Given the description of an element on the screen output the (x, y) to click on. 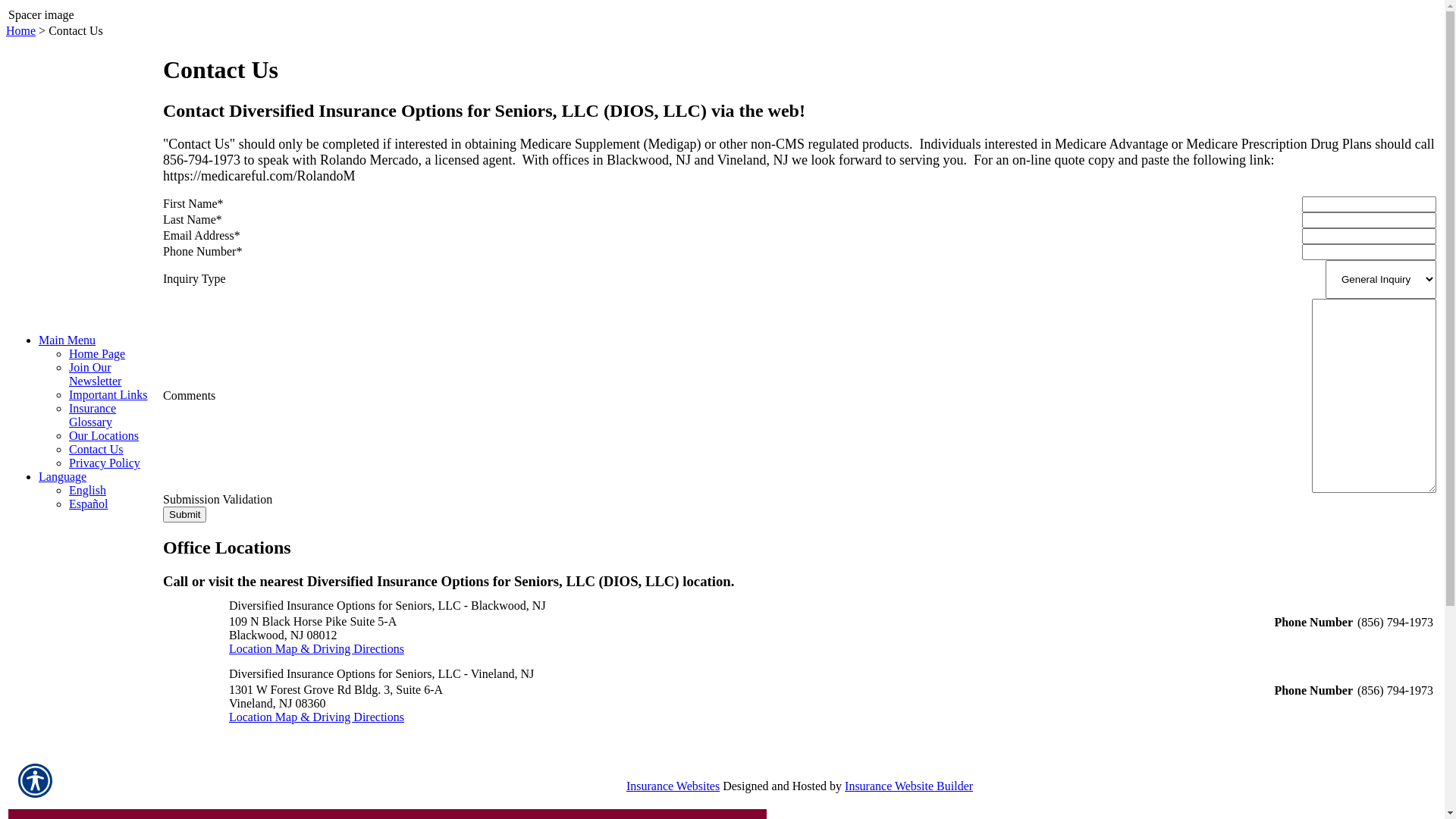
Insurance Glossary Element type: text (92, 414)
Important Links Element type: text (108, 394)
Contact Us Element type: text (96, 448)
Home Element type: text (20, 30)
Insurance Website Builder Element type: text (908, 785)
Insurance Websites Element type: text (672, 785)
English Element type: text (87, 489)
Privacy Policy Element type: text (104, 462)
Language Element type: text (62, 476)
Toggle Accessibility Menu (Alt+A) Element type: hover (35, 780)
Home Page Element type: text (97, 353)
Main Menu Element type: text (66, 339)
Location Map & Driving Directions Element type: text (316, 648)
Join Our Newsletter Element type: text (95, 373)
Our Locations Element type: text (103, 435)
Location Map & Driving Directions Element type: text (316, 716)
Submit Element type: text (184, 514)
